Given the description of an element on the screen output the (x, y) to click on. 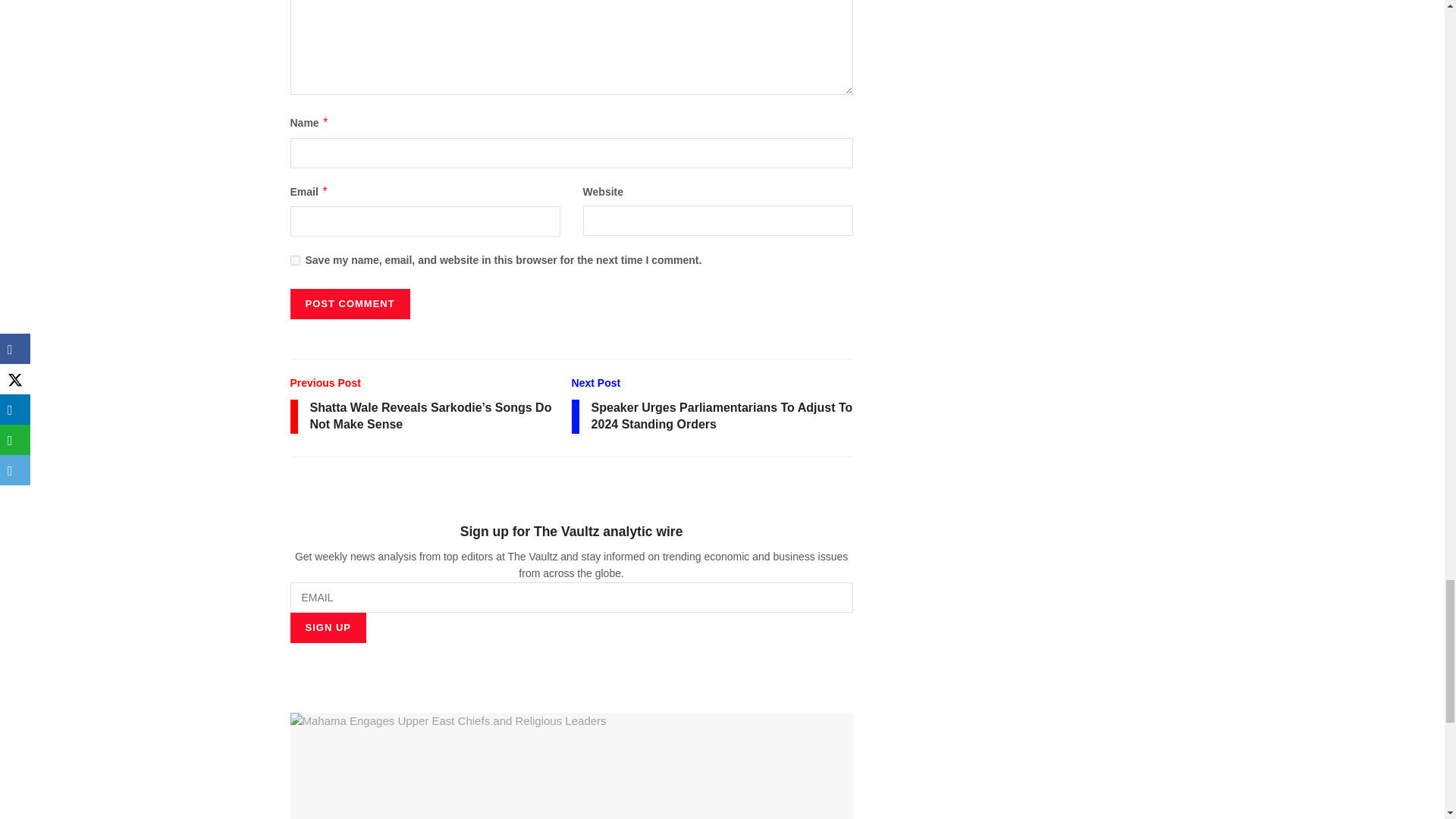
Sign up (327, 627)
Post Comment (349, 304)
yes (294, 260)
